Given the description of an element on the screen output the (x, y) to click on. 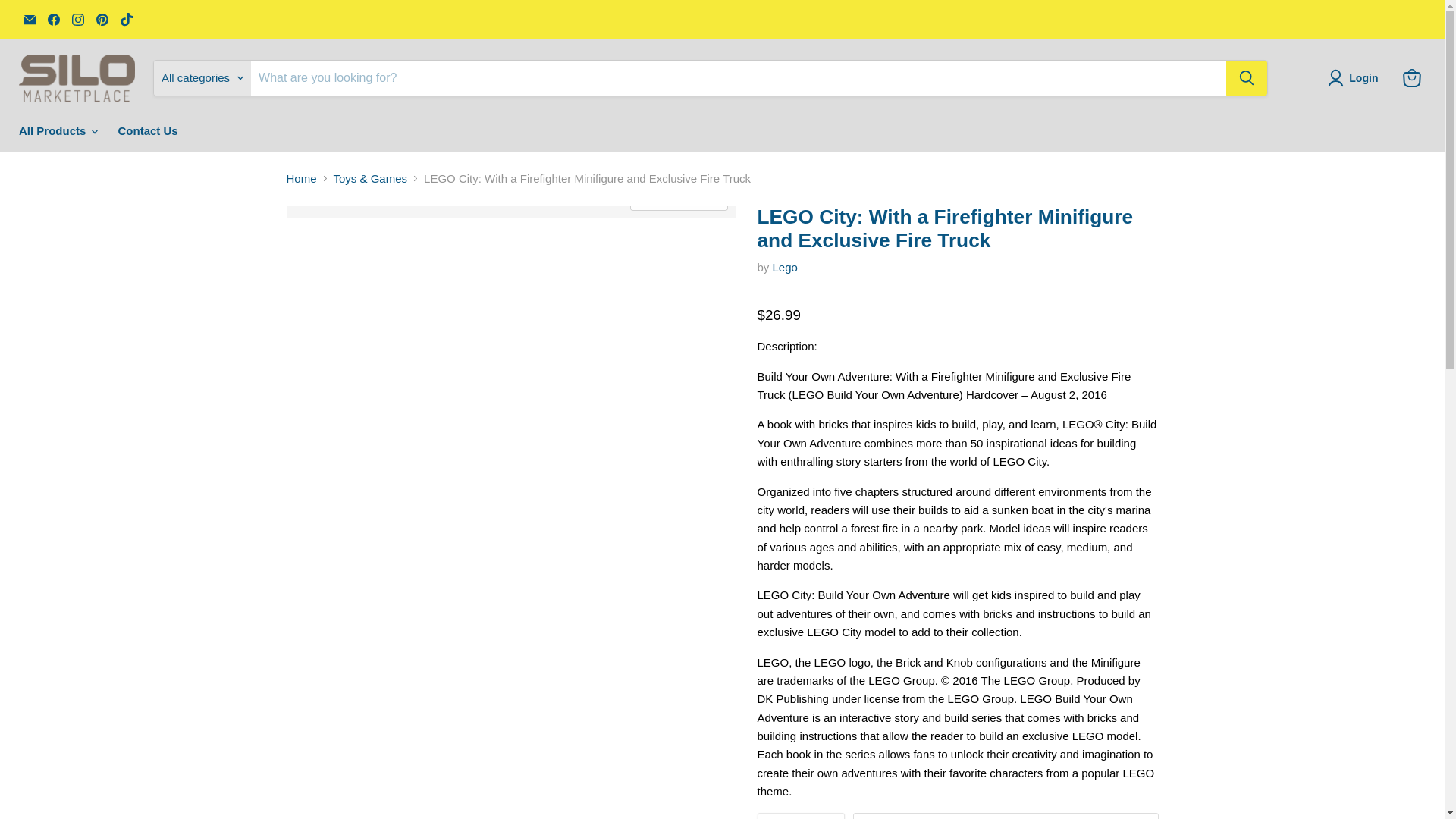
Instagram (77, 19)
Pinterest (102, 19)
TikTok (126, 19)
View cart (1411, 78)
Email Silo Marketplace (29, 19)
Login (1363, 77)
Facebook (53, 19)
Find us on Pinterest (102, 19)
Find us on TikTok (126, 19)
Email (29, 19)
Lego (785, 267)
Find us on Instagram (77, 19)
Find us on Facebook (53, 19)
